Given the description of an element on the screen output the (x, y) to click on. 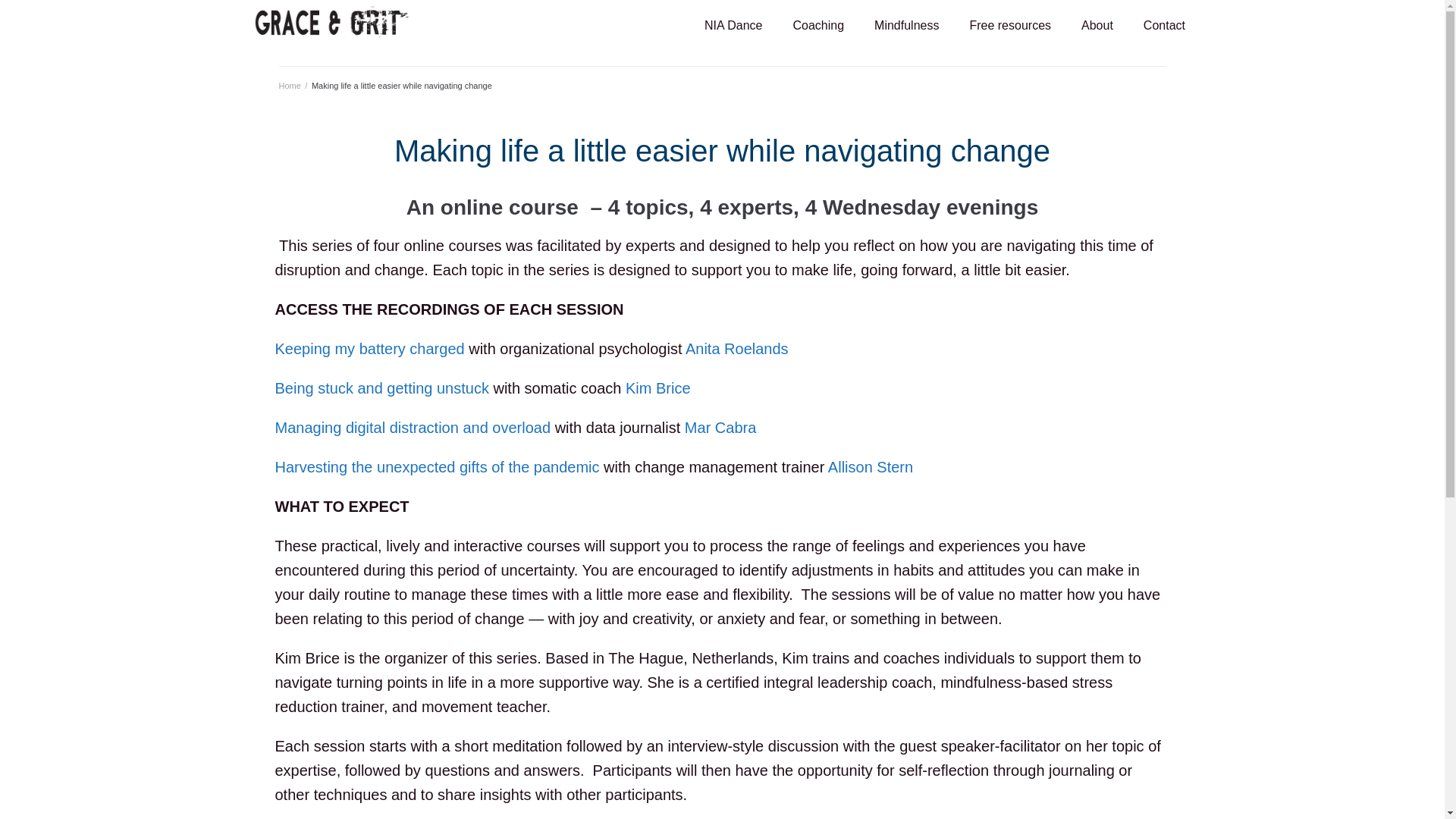
Free resources (1009, 25)
Anita Roelands (737, 348)
Being stuck and getting unstuck (381, 388)
Keeping my battery charged (369, 348)
NIA Dance (732, 25)
Home (290, 85)
Contact (1163, 25)
Home (290, 85)
Coaching (818, 25)
About (1096, 25)
